Given the description of an element on the screen output the (x, y) to click on. 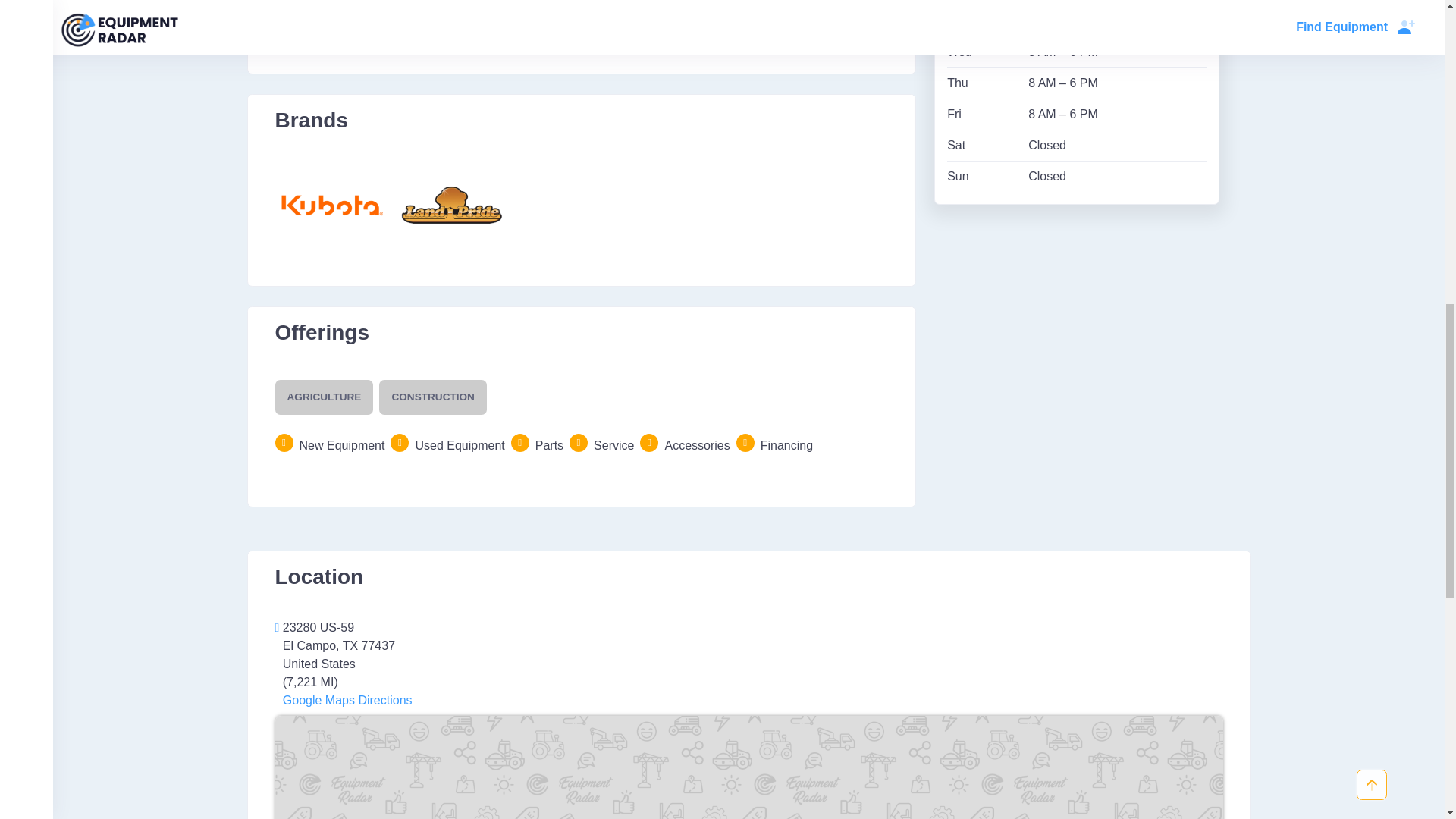
Kubota (331, 205)
Land Pride (451, 205)
Google Maps Directions (345, 699)
